Given the description of an element on the screen output the (x, y) to click on. 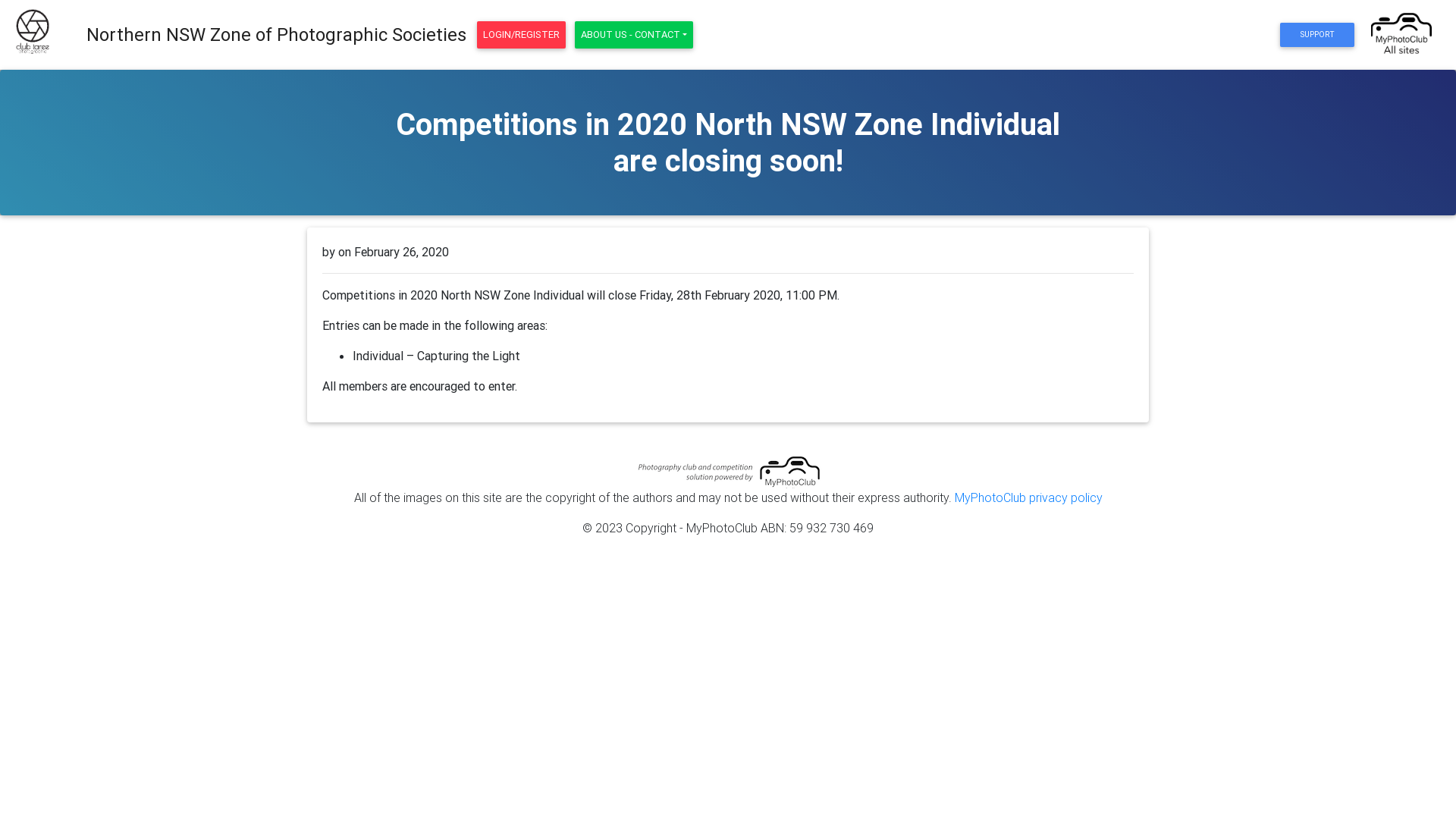
SUPPORT Element type: text (1316, 34)
ABOUT US - CONTACT Element type: text (633, 34)
MyPhotoClub privacy policy Element type: text (1027, 497)
Northern NSW Zone of Photographic Societies Element type: text (276, 35)
LOGIN/REGISTER Element type: text (520, 34)
